Given the description of an element on the screen output the (x, y) to click on. 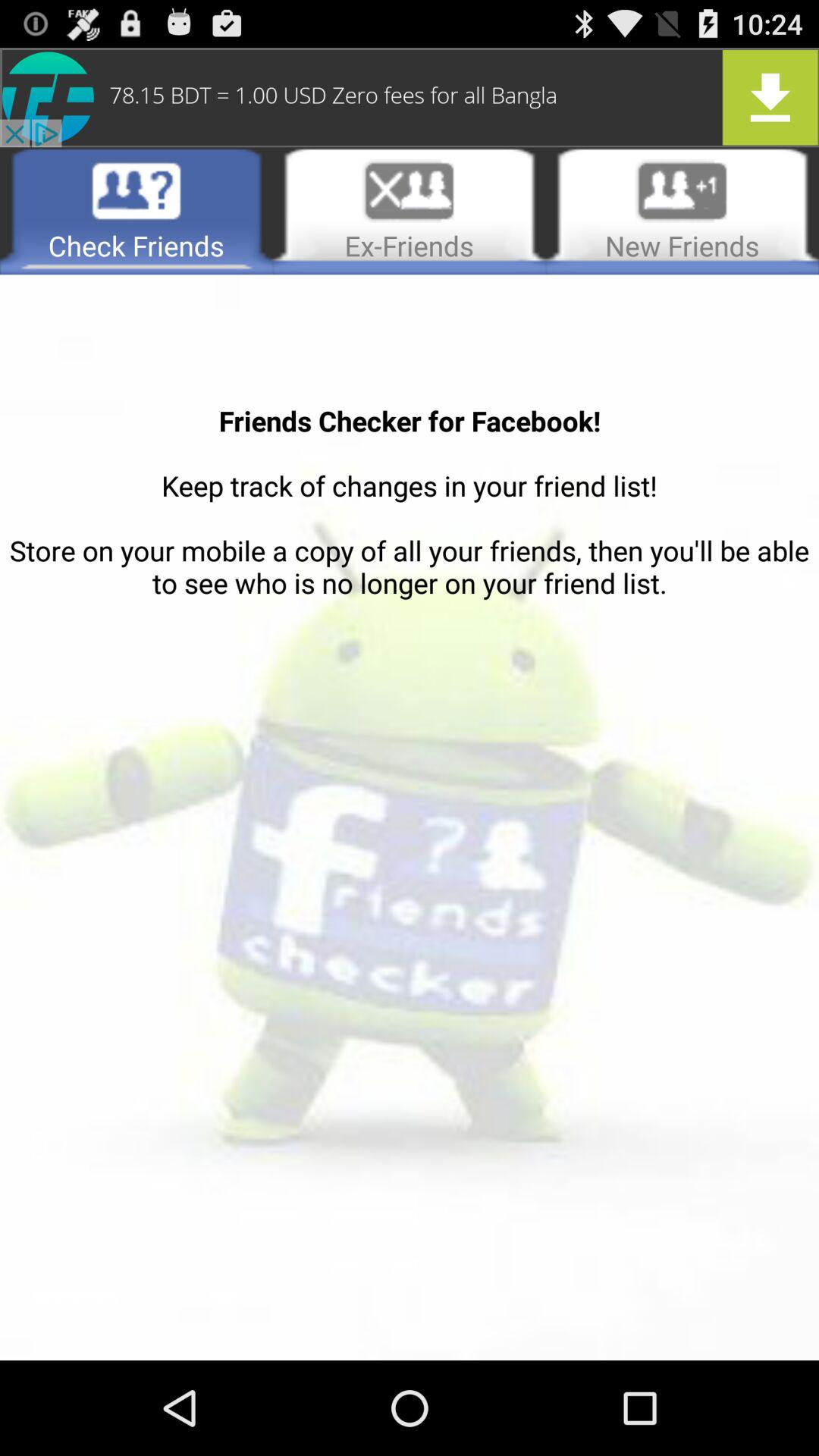
advertise an app (409, 97)
